Given the description of an element on the screen output the (x, y) to click on. 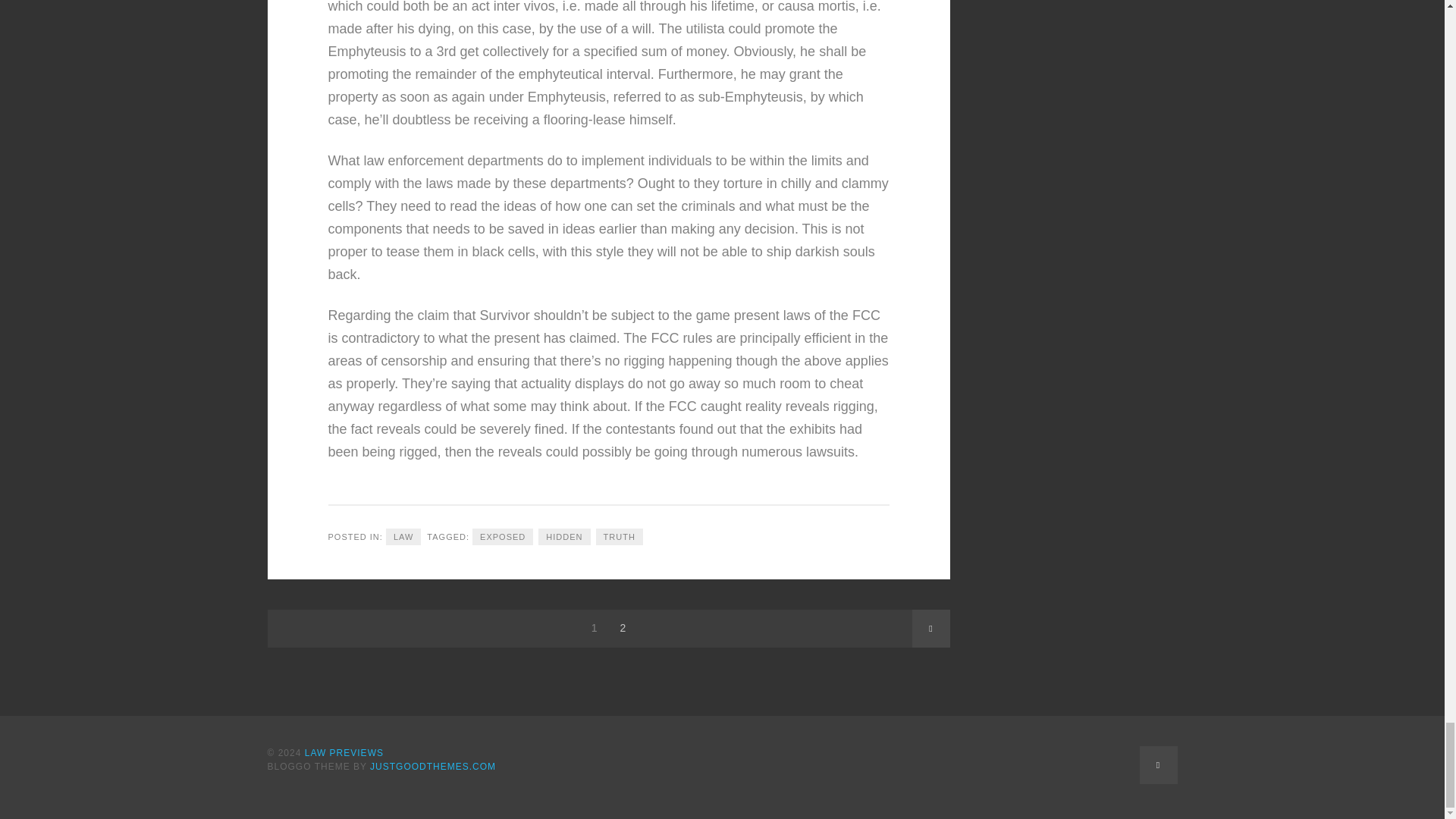
Next (930, 628)
HIDDEN (563, 537)
TRUTH (619, 537)
EXPOSED (501, 537)
LAW (402, 537)
